Given the description of an element on the screen output the (x, y) to click on. 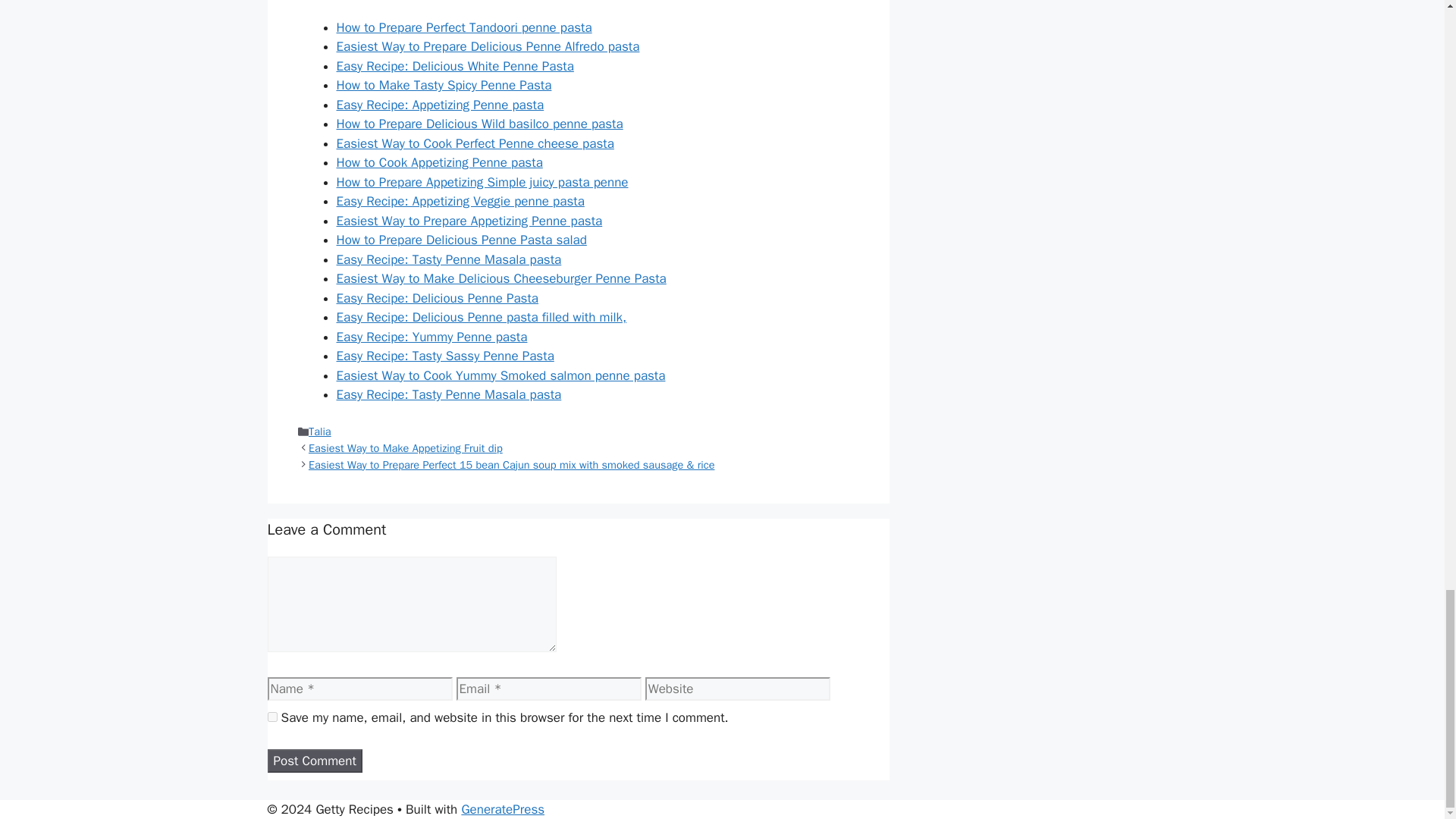
Easy Recipe: Tasty Penne Masala pasta (449, 259)
How to Prepare Delicious Penne Pasta salad (461, 239)
How to Prepare Delicious Wild basilco penne pasta (479, 123)
Easy Recipe: Delicious White Penne Pasta (454, 66)
Easy Recipe: Tasty Penne Masala pasta (449, 394)
Post Comment (313, 761)
Easy Recipe: Tasty Sassy Penne Pasta (445, 355)
How to Cook Appetizing Penne pasta (439, 162)
Easiest Way to Cook Perfect Penne cheese pasta (475, 143)
How to Make Tasty Spicy Penne Pasta (443, 84)
